Given the description of an element on the screen output the (x, y) to click on. 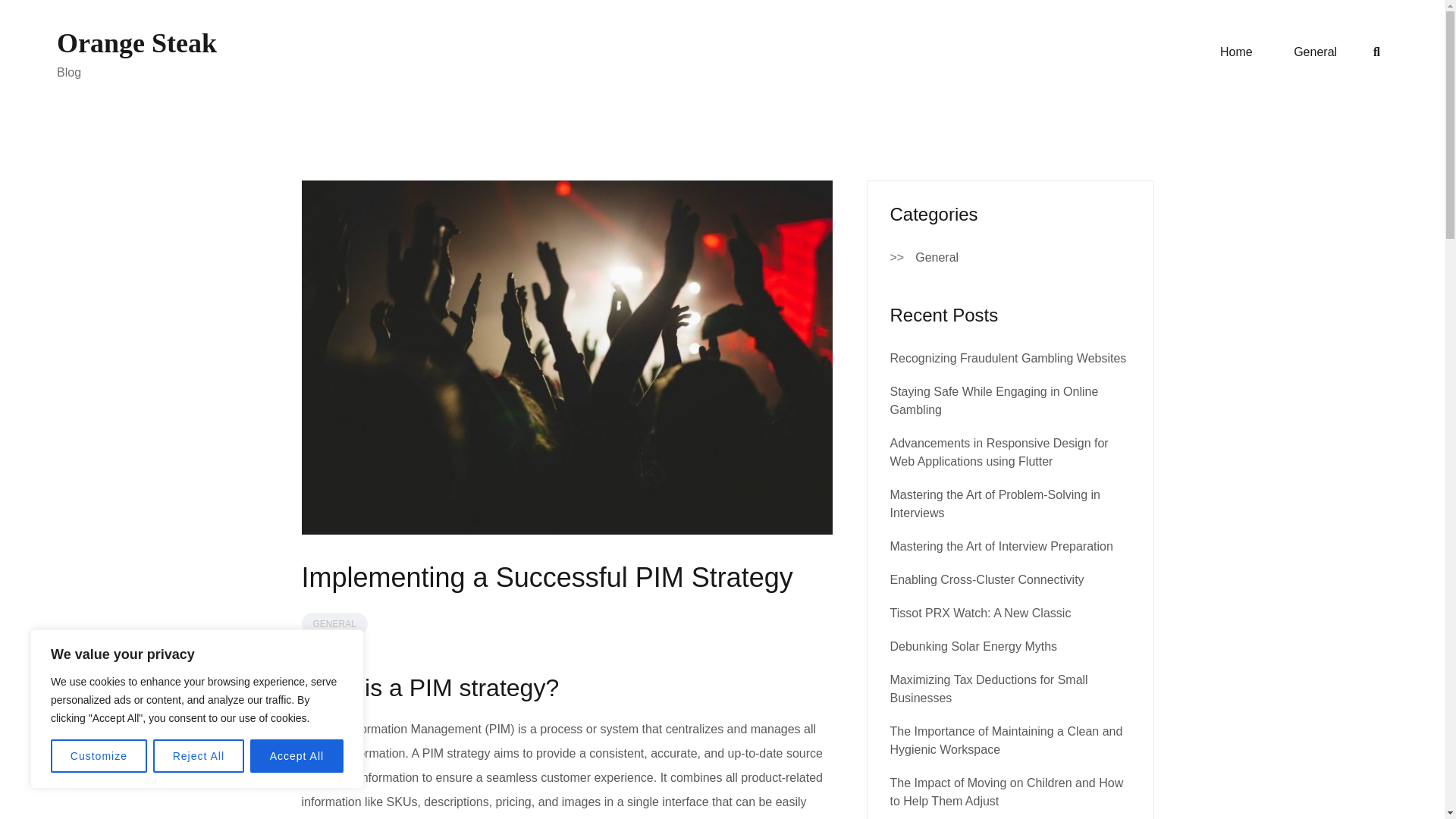
Home (1236, 52)
Accept All (296, 756)
Recognizing Fraudulent Gambling Websites (1007, 358)
Enabling Cross-Cluster Connectivity (986, 579)
Staying Safe While Engaging in Online Gambling (994, 400)
Mastering the Art of Problem-Solving in Interviews (994, 503)
General (936, 257)
GENERAL (334, 623)
Customize (98, 756)
Orange Steak (136, 42)
General (1315, 52)
Reject All (198, 756)
Mastering the Art of Interview Preparation (1001, 545)
